Given the description of an element on the screen output the (x, y) to click on. 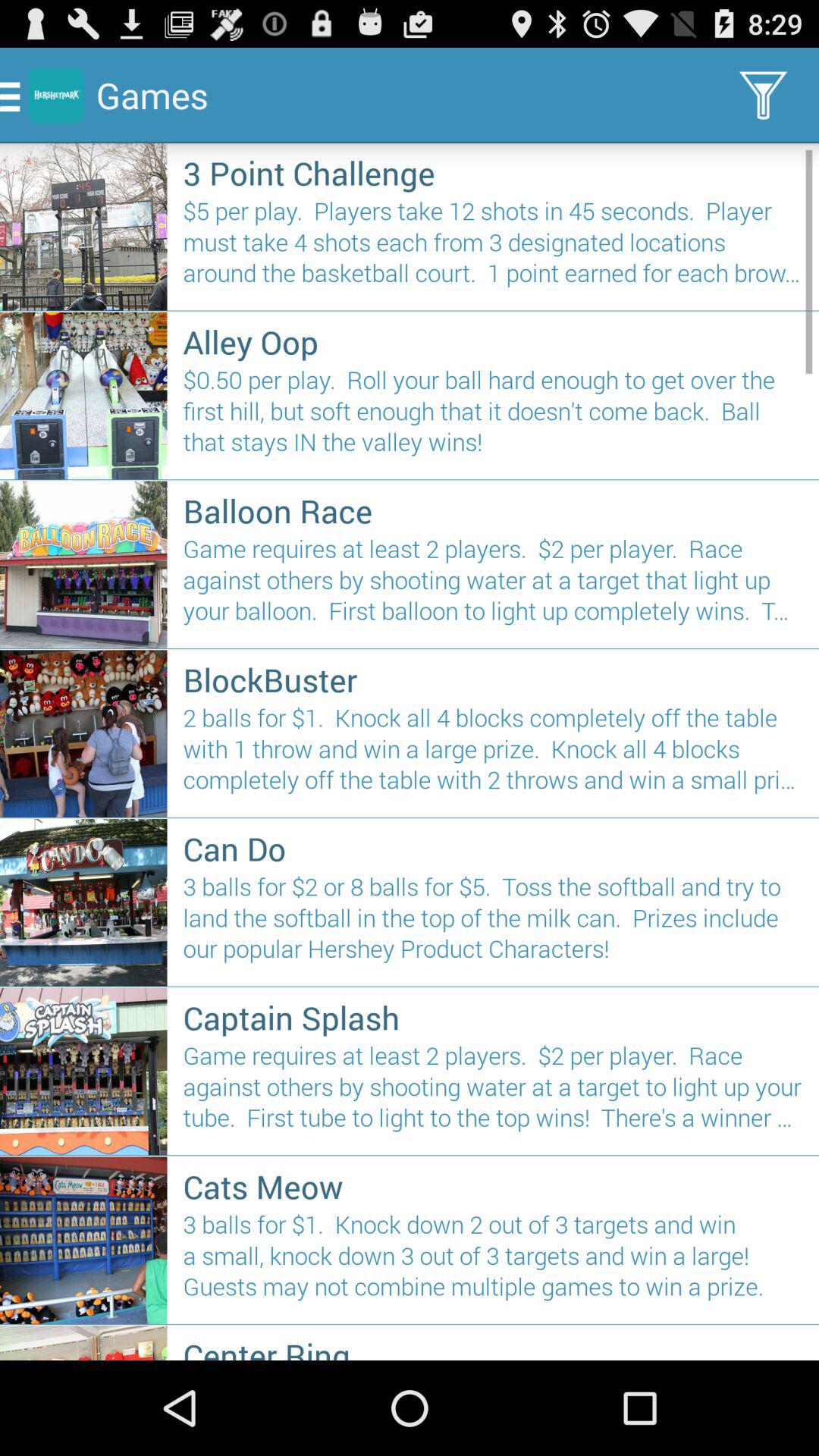
choose item below alley oop (493, 417)
